Given the description of an element on the screen output the (x, y) to click on. 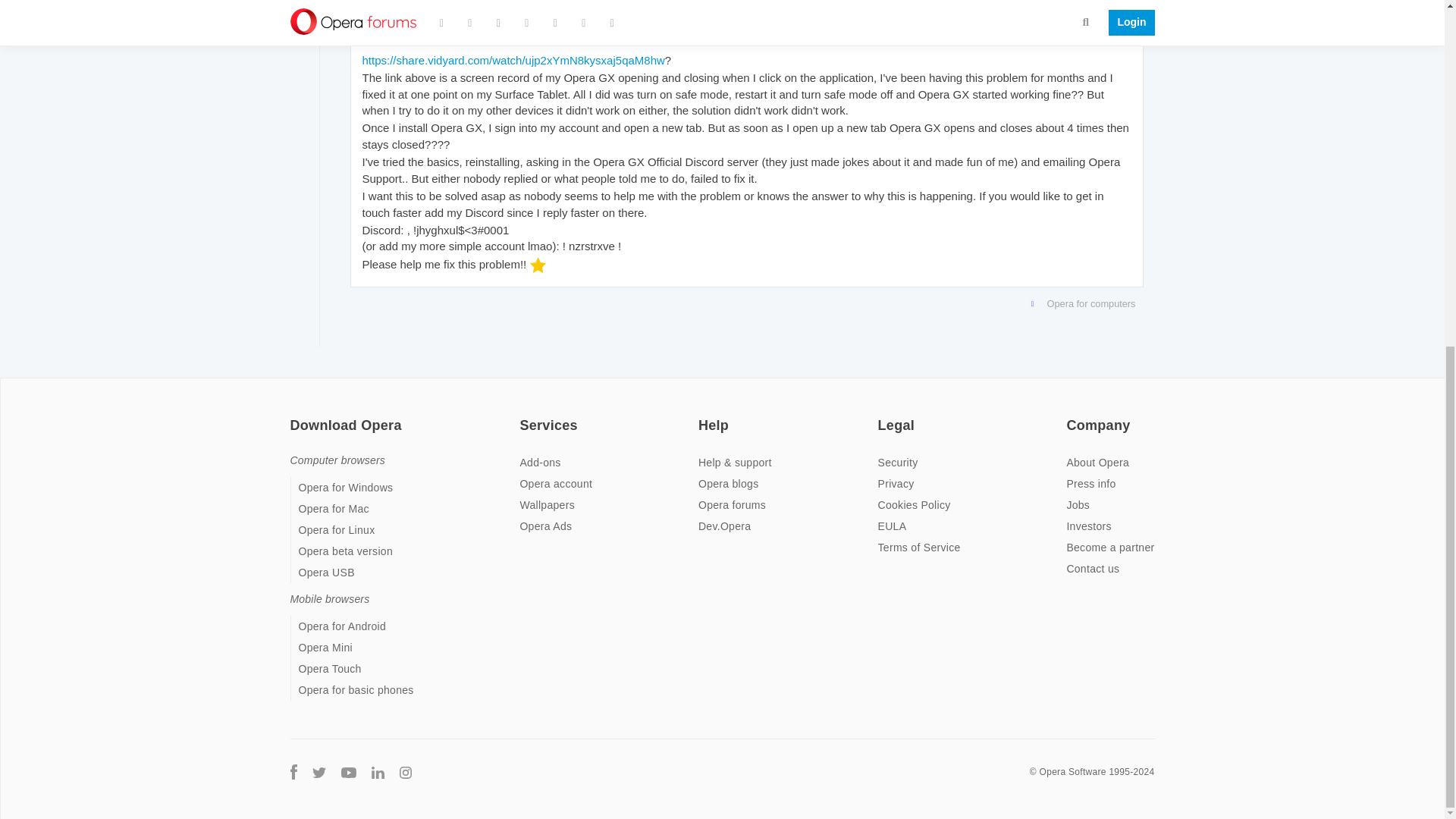
on (702, 415)
on (1070, 415)
on (293, 415)
Opera for computers (742, 303)
Computer browsers (337, 459)
on (523, 415)
UGHLULURAWR (404, 2)
Opera GX continuously opens and closes (475, 28)
on (881, 415)
